Given the description of an element on the screen output the (x, y) to click on. 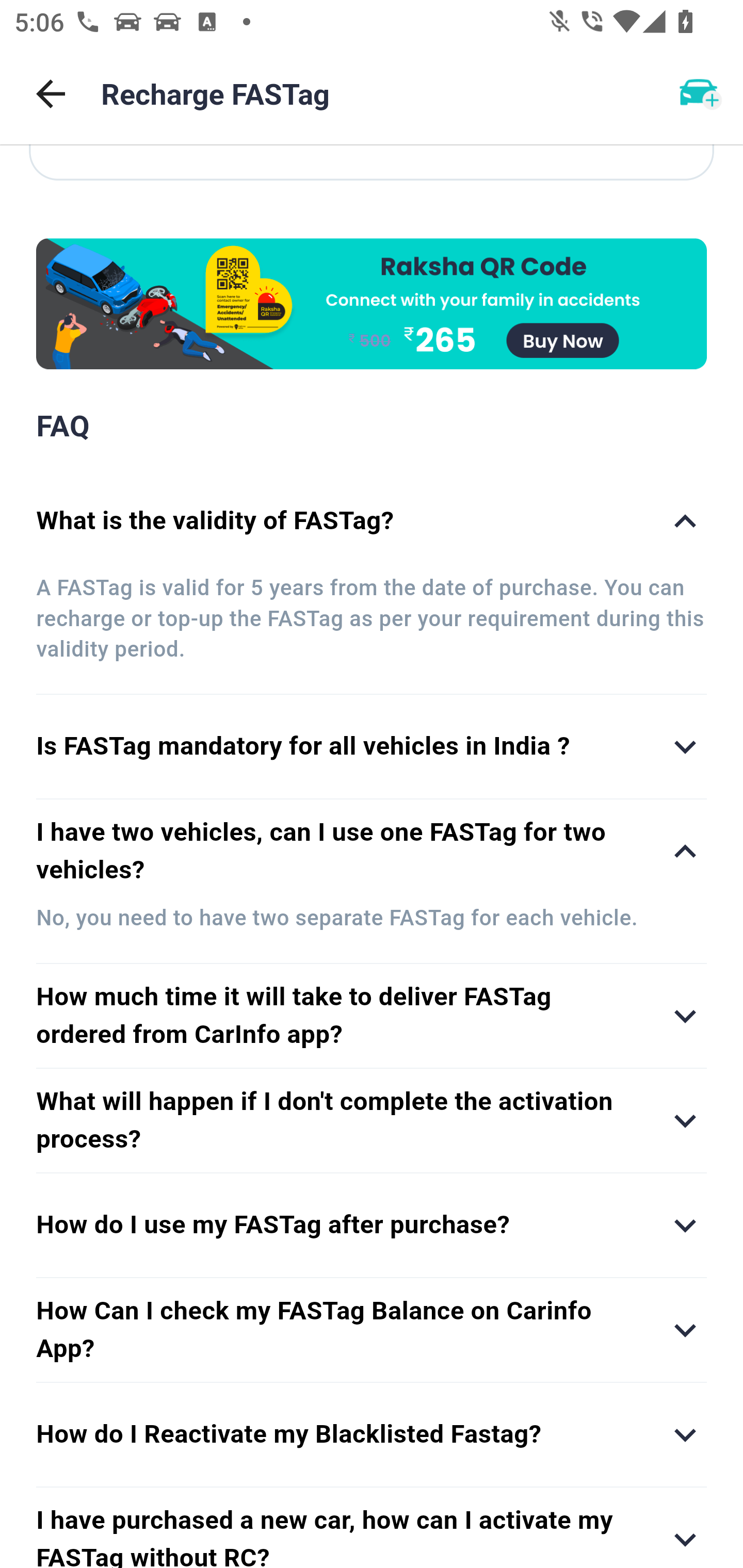
Back (50, 93)
Is FASTag mandatory for all vehicles in India ? (371, 746)
How do I use my FASTag after purchase? (371, 1224)
How Can I check my FASTag Balance on Carinfo App? (371, 1329)
How do I Reactivate my Blacklisted Fastag? (371, 1434)
